Given the description of an element on the screen output the (x, y) to click on. 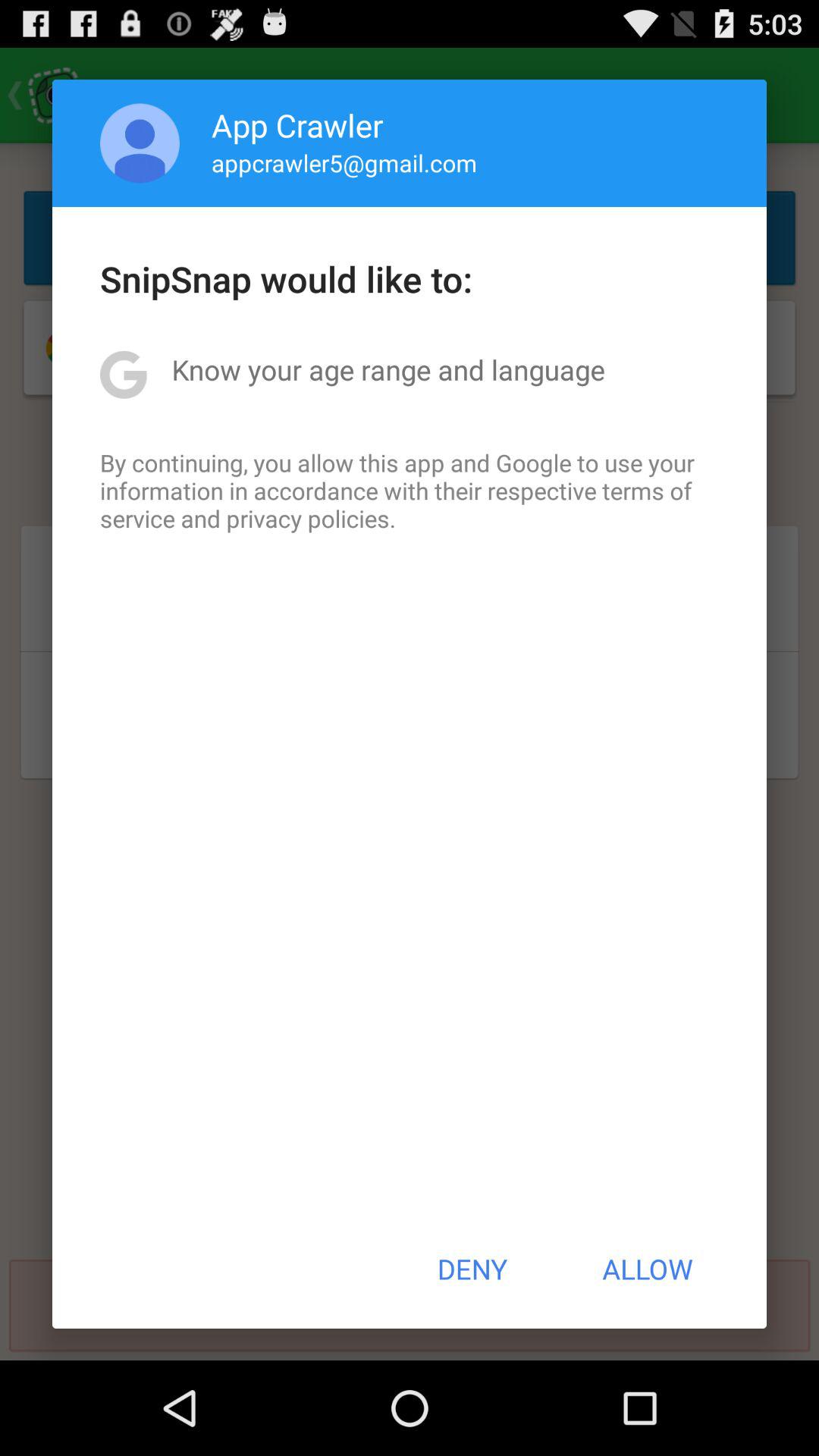
swipe to the deny button (471, 1268)
